Given the description of an element on the screen output the (x, y) to click on. 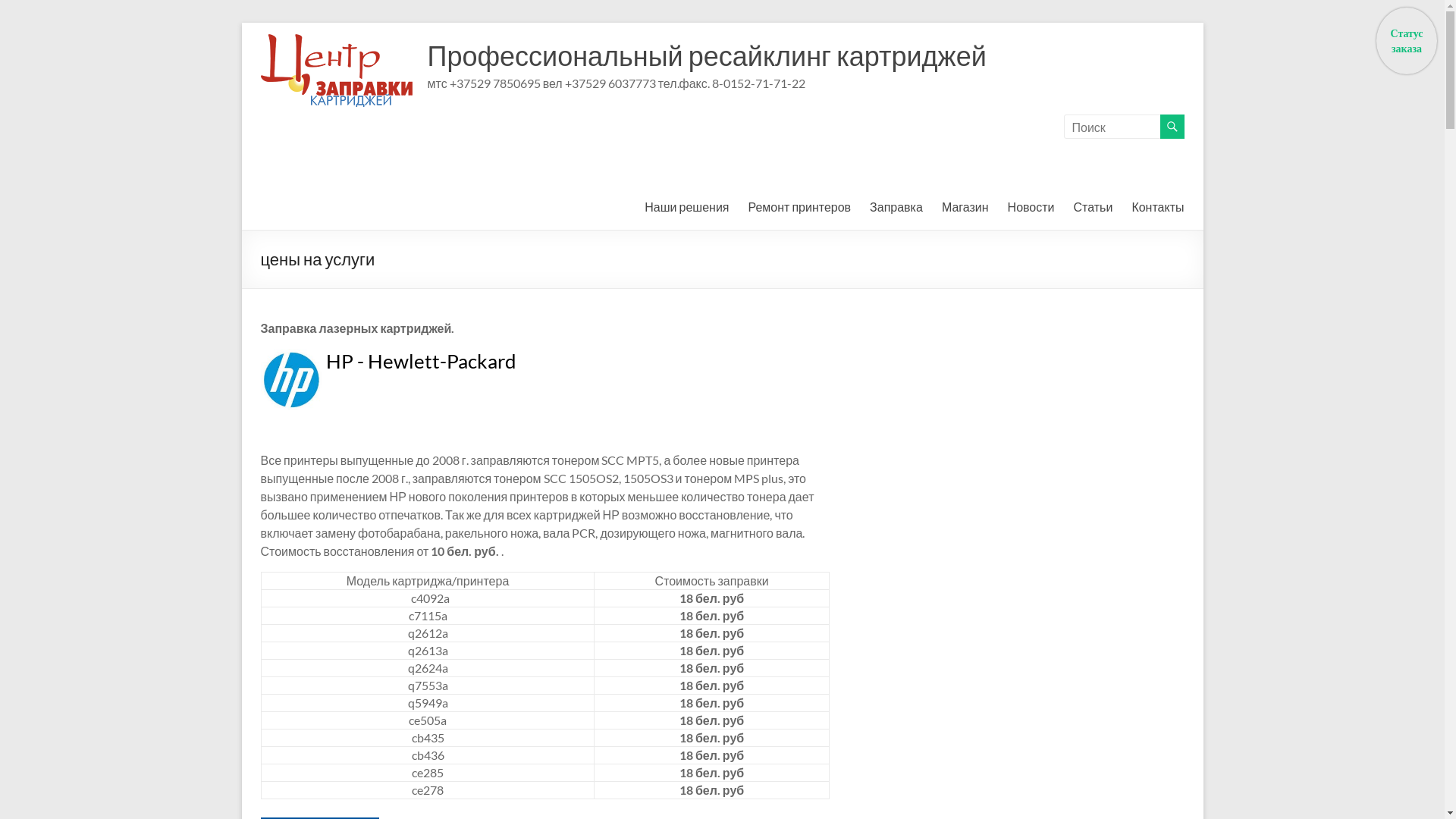
Skip to content Element type: text (241, 21)
HP - Hewlett-Packard Element type: text (421, 360)
